Given the description of an element on the screen output the (x, y) to click on. 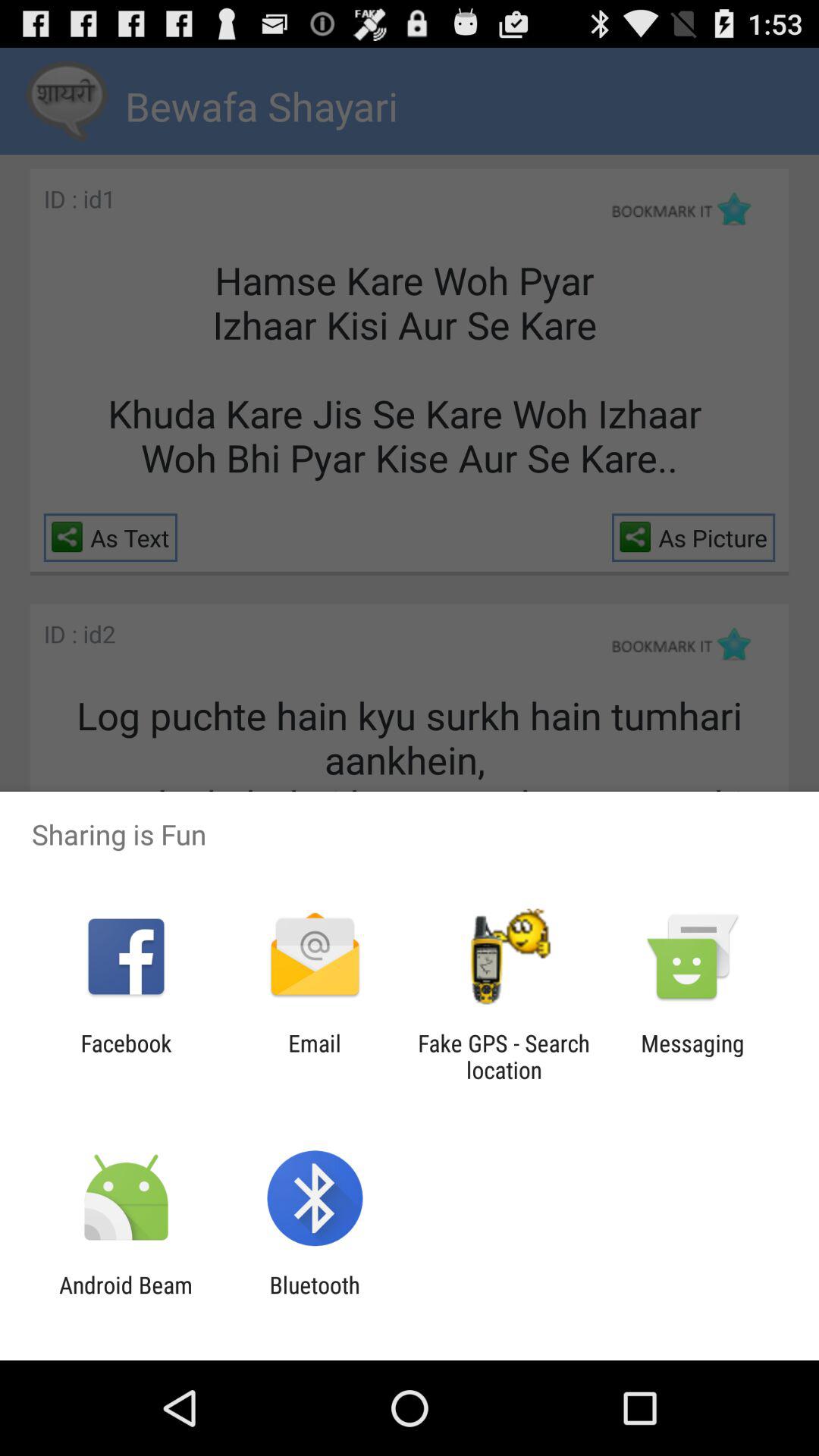
open the icon next to email item (125, 1056)
